Given the description of an element on the screen output the (x, y) to click on. 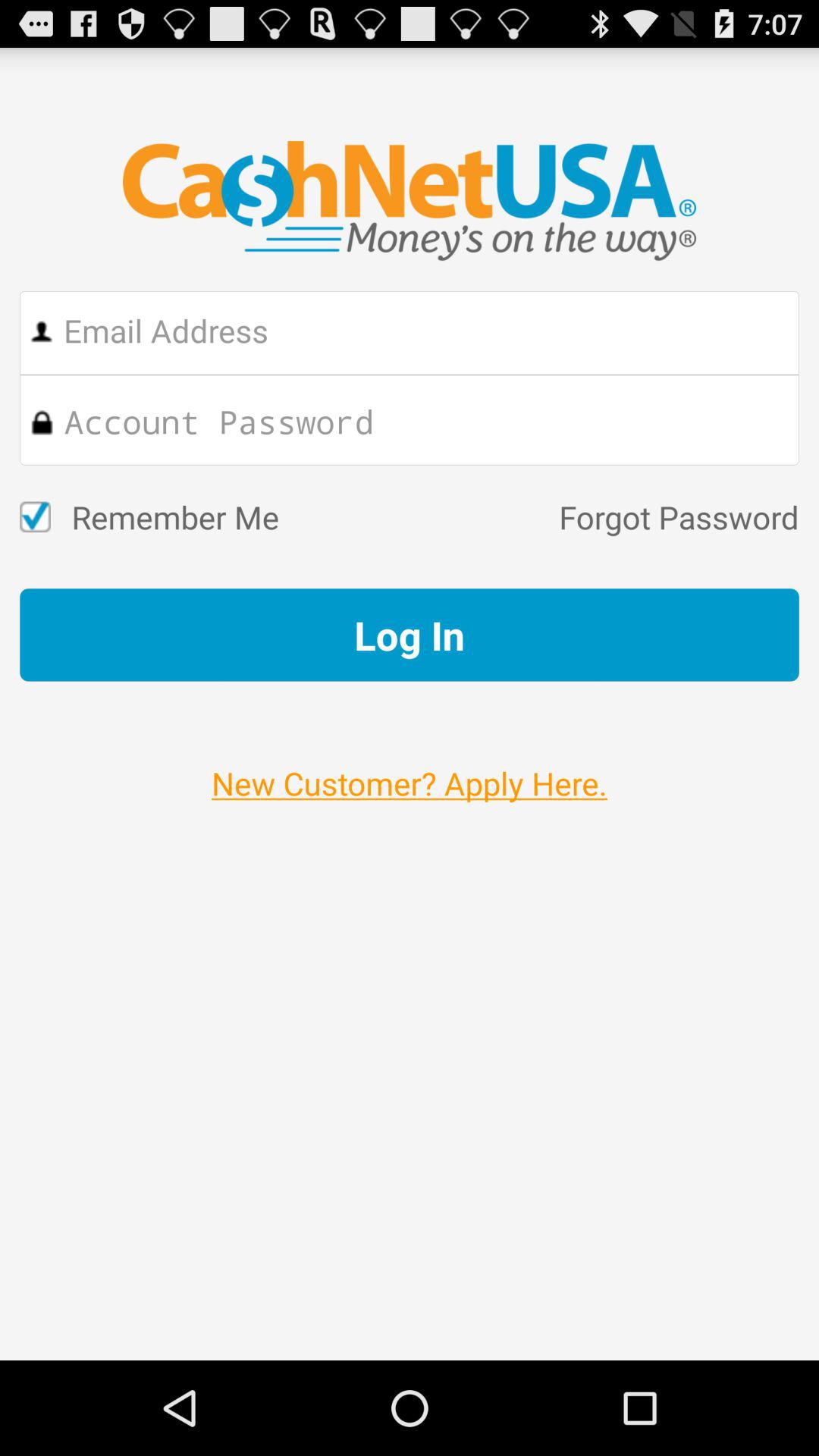
tap the new customer apply item (409, 767)
